Given the description of an element on the screen output the (x, y) to click on. 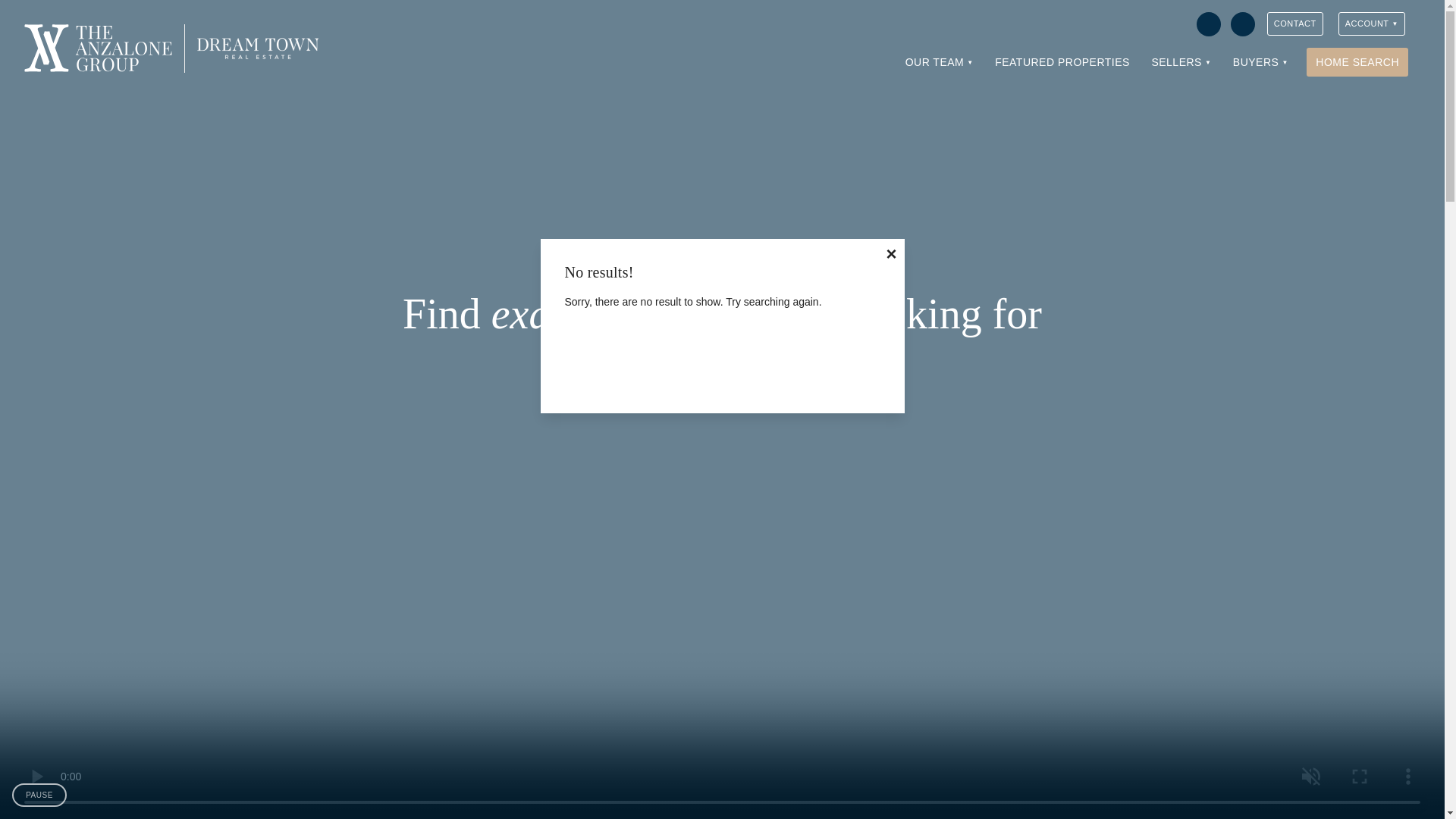
Facebook (1208, 24)
BUYERS (1260, 61)
CONTACT (1294, 24)
OUR TEAM (939, 61)
The Anzalone Group (97, 48)
HOME SEARCH (1356, 61)
SELLERS (1180, 61)
Dream Town Real Estate (257, 48)
FEATURED PROPERTIES (1061, 61)
Instagram (1242, 24)
ACCOUNT (1371, 24)
PAUSE (38, 794)
